Given the description of an element on the screen output the (x, y) to click on. 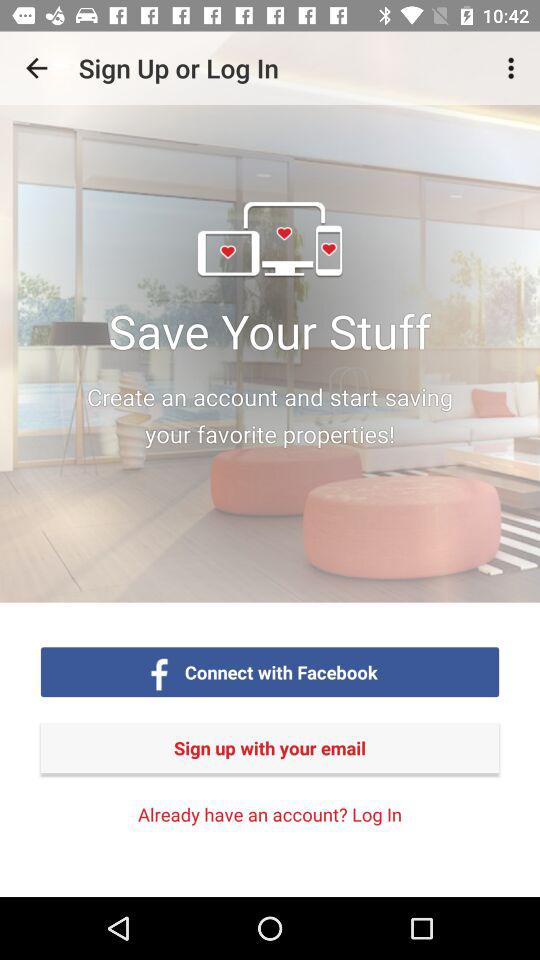
jump to already have an icon (269, 814)
